Given the description of an element on the screen output the (x, y) to click on. 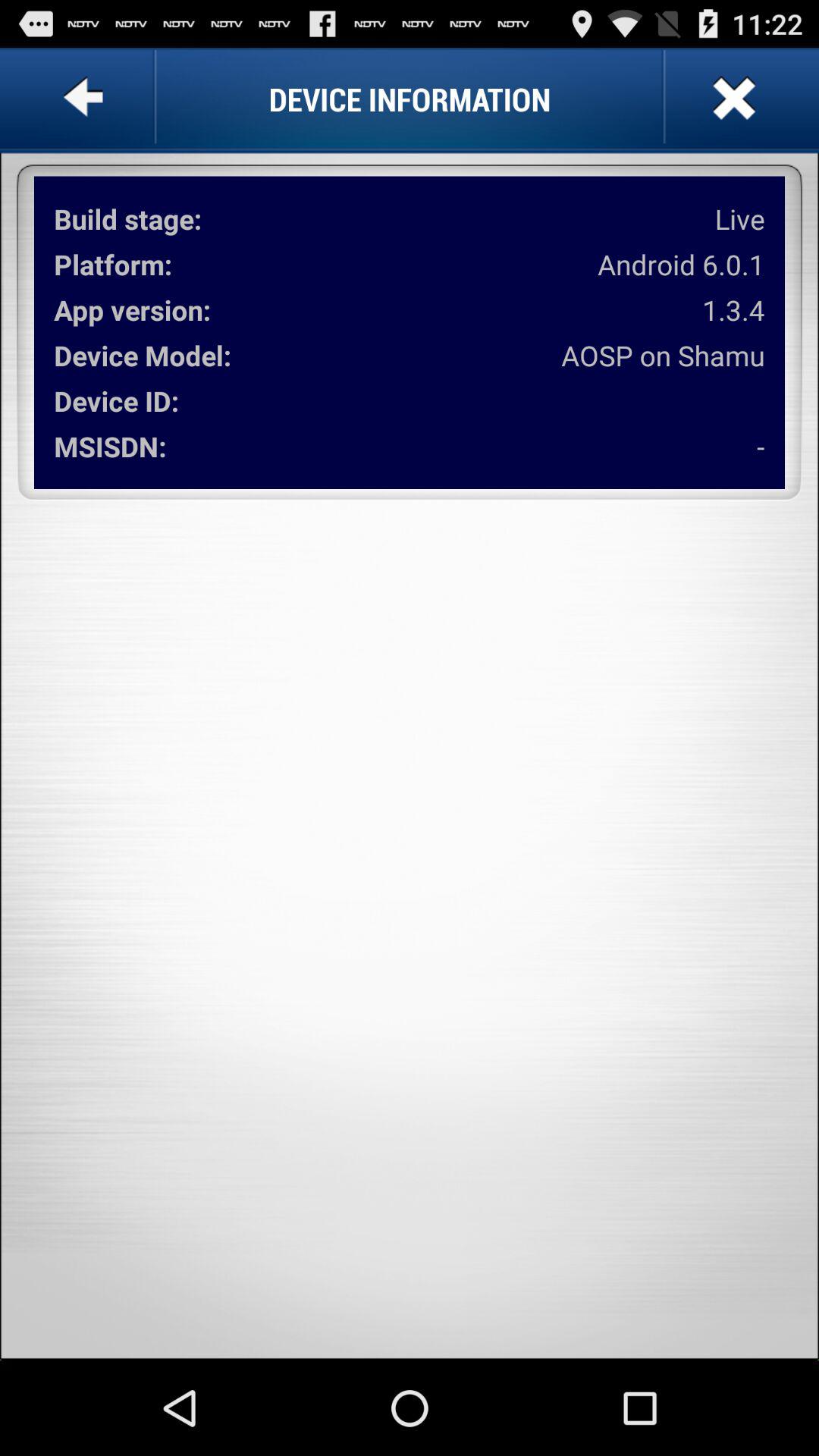
instead of the x being a whole one it should have button (732, 99)
